Given the description of an element on the screen output the (x, y) to click on. 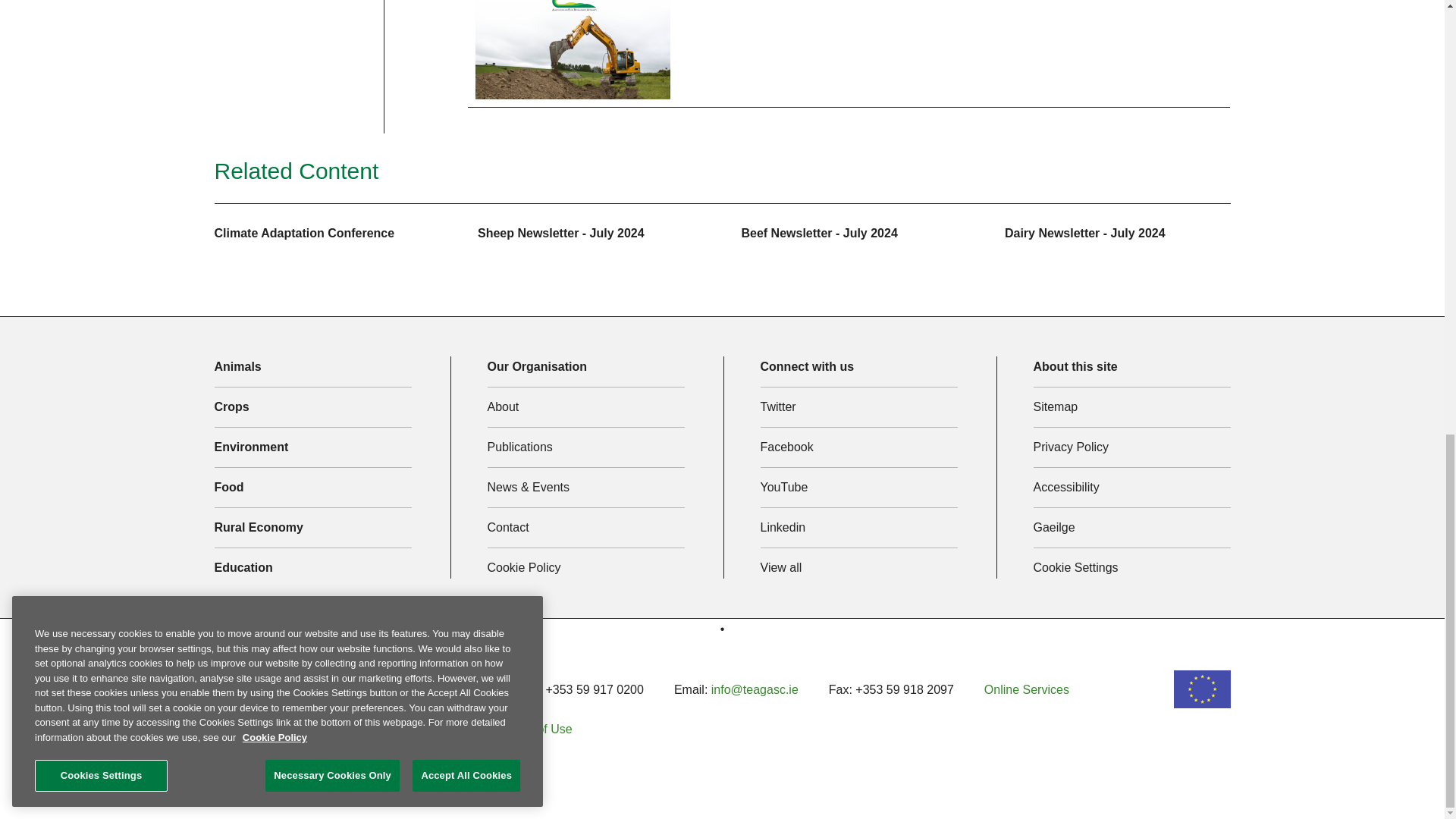
EU (1201, 689)
